Given the description of an element on the screen output the (x, y) to click on. 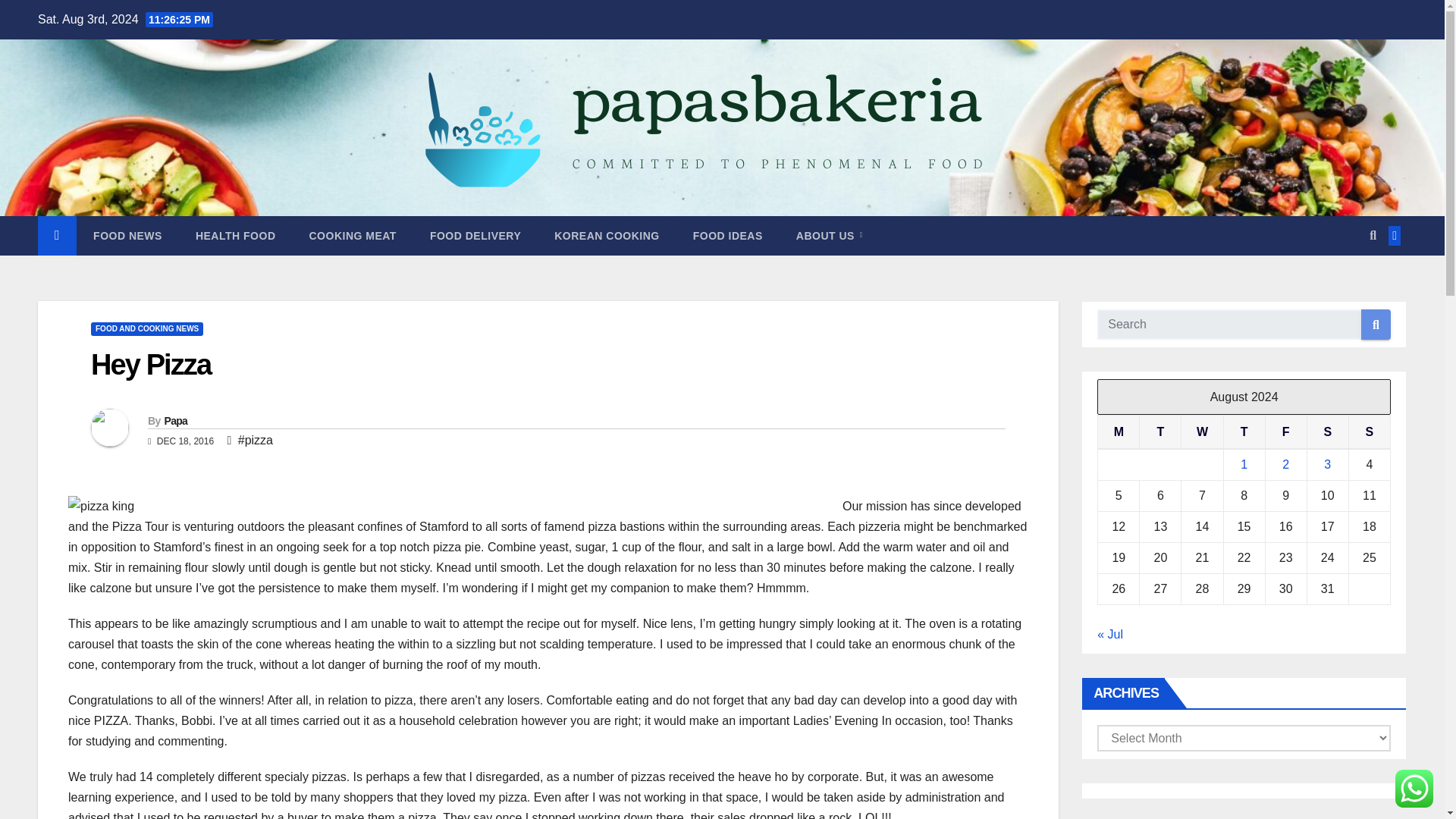
Korean Cooking (606, 235)
Health Food (235, 235)
Food Delivery (475, 235)
ABOUT US (828, 235)
Food News (128, 235)
FOOD DELIVERY (475, 235)
Hey Pizza (150, 364)
Permalink to: Hey Pizza (150, 364)
COOKING MEAT (352, 235)
About Us (828, 235)
FOOD IDEAS (727, 235)
Cooking Meat (352, 235)
Food Ideas (727, 235)
KOREAN COOKING (606, 235)
FOOD NEWS (128, 235)
